Given the description of an element on the screen output the (x, y) to click on. 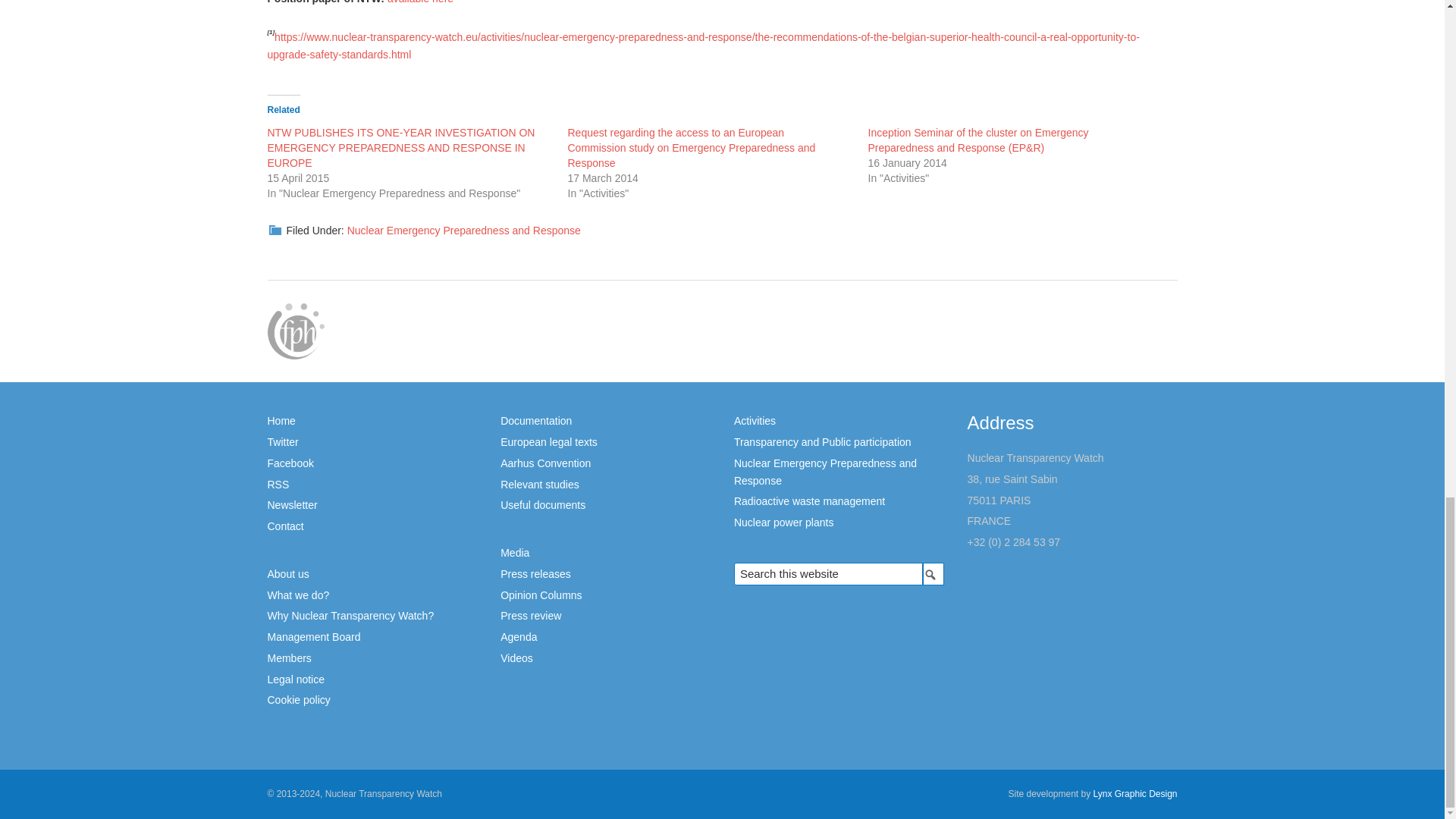
available here (419, 2)
Fondation Charles Leopold Mayer (294, 330)
Fondation Charles Leopold Mayer (294, 331)
